Given the description of an element on the screen output the (x, y) to click on. 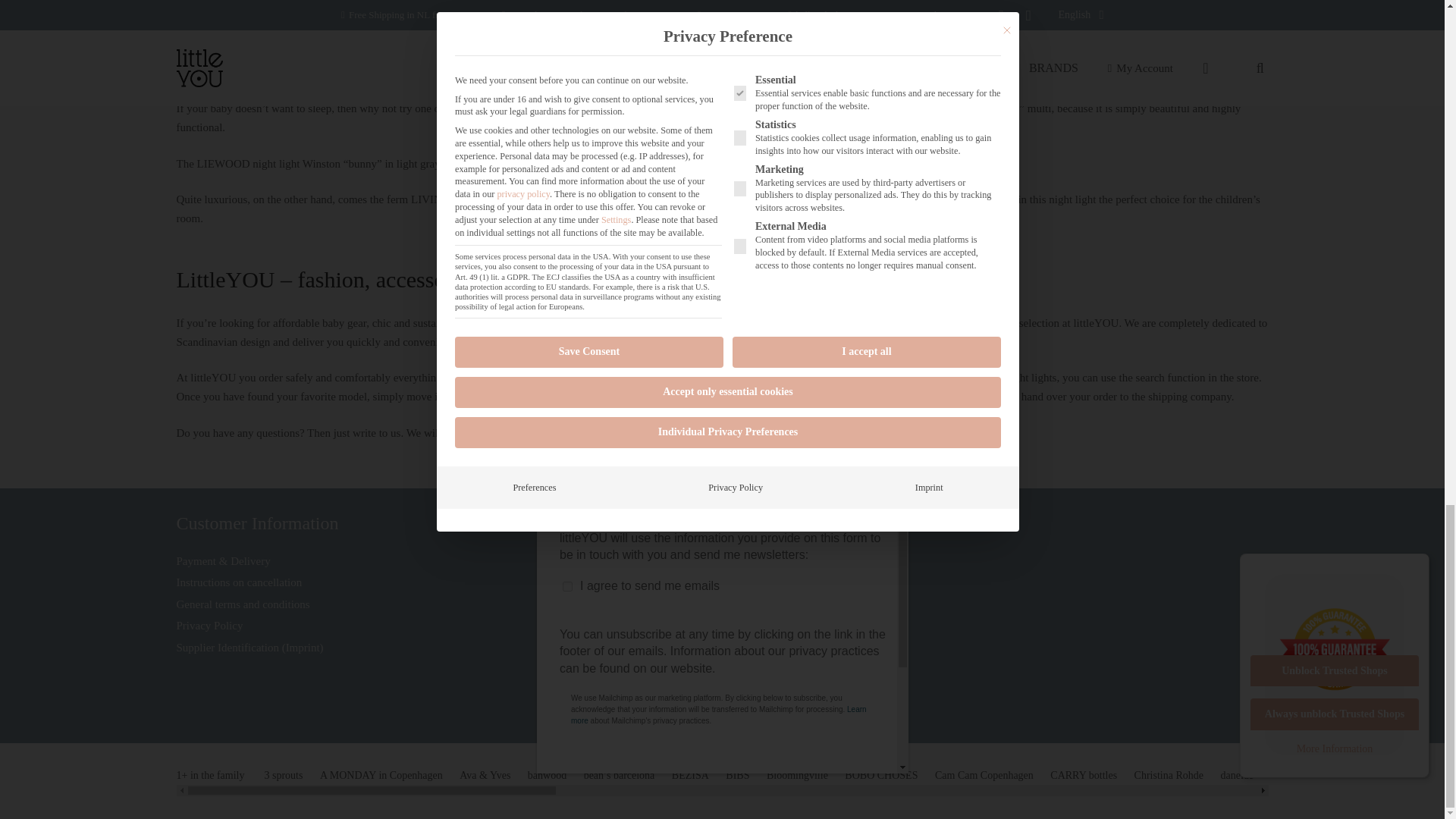
Facebook (707, 670)
Instagram (737, 670)
